Given the description of an element on the screen output the (x, y) to click on. 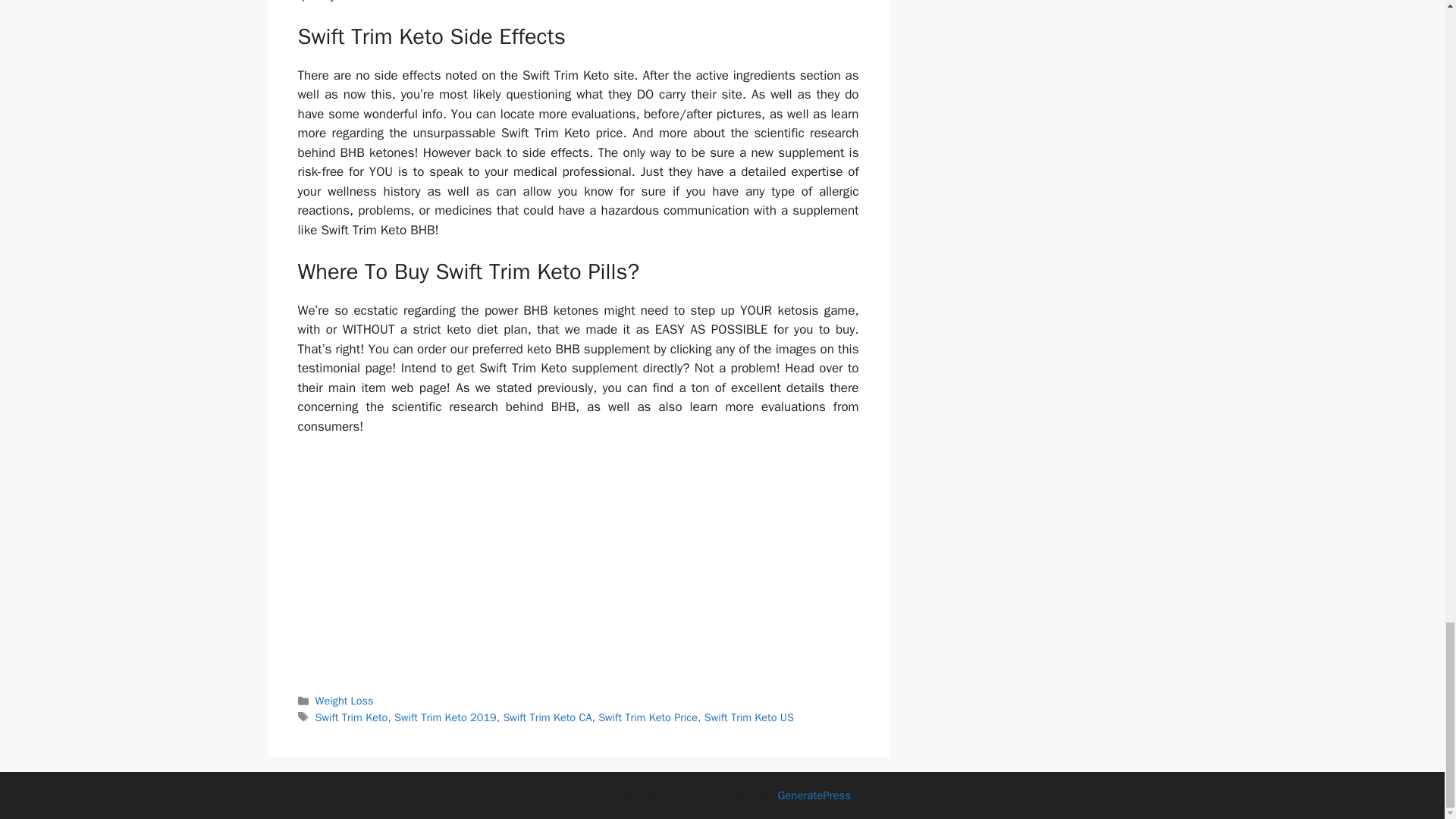
Swift Trim Keto US (748, 716)
Swift Trim Keto Price (647, 716)
Swift Trim Keto 2019 (445, 716)
Weight Loss (344, 700)
Swift Trim Keto (351, 716)
Swift Trim Keto CA (546, 716)
GeneratePress (813, 795)
